Given the description of an element on the screen output the (x, y) to click on. 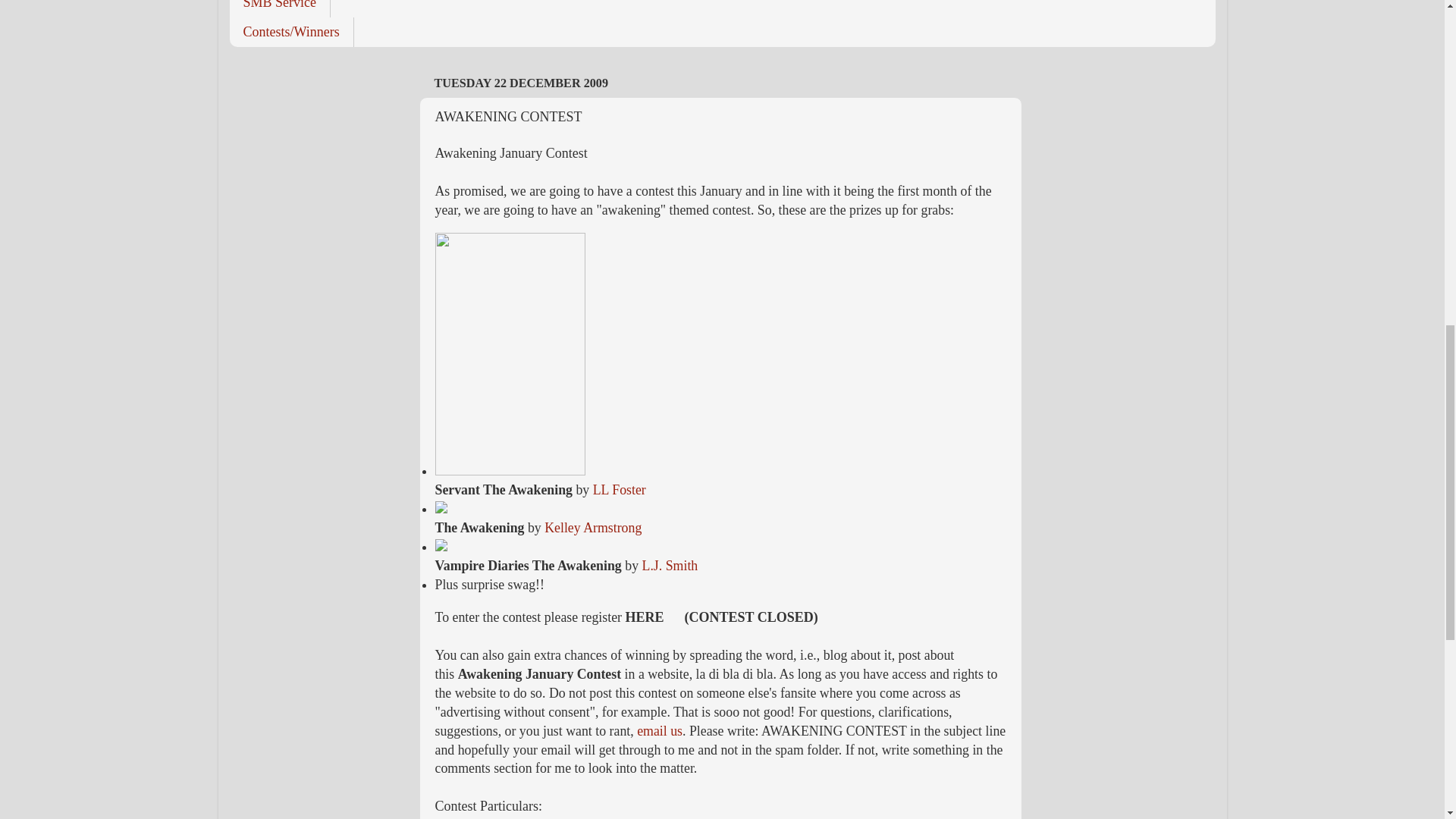
LL Foster (619, 489)
SMB Service (279, 8)
email us (659, 730)
Kelley Armstrong (593, 527)
L.J. Smith (669, 565)
